Given the description of an element on the screen output the (x, y) to click on. 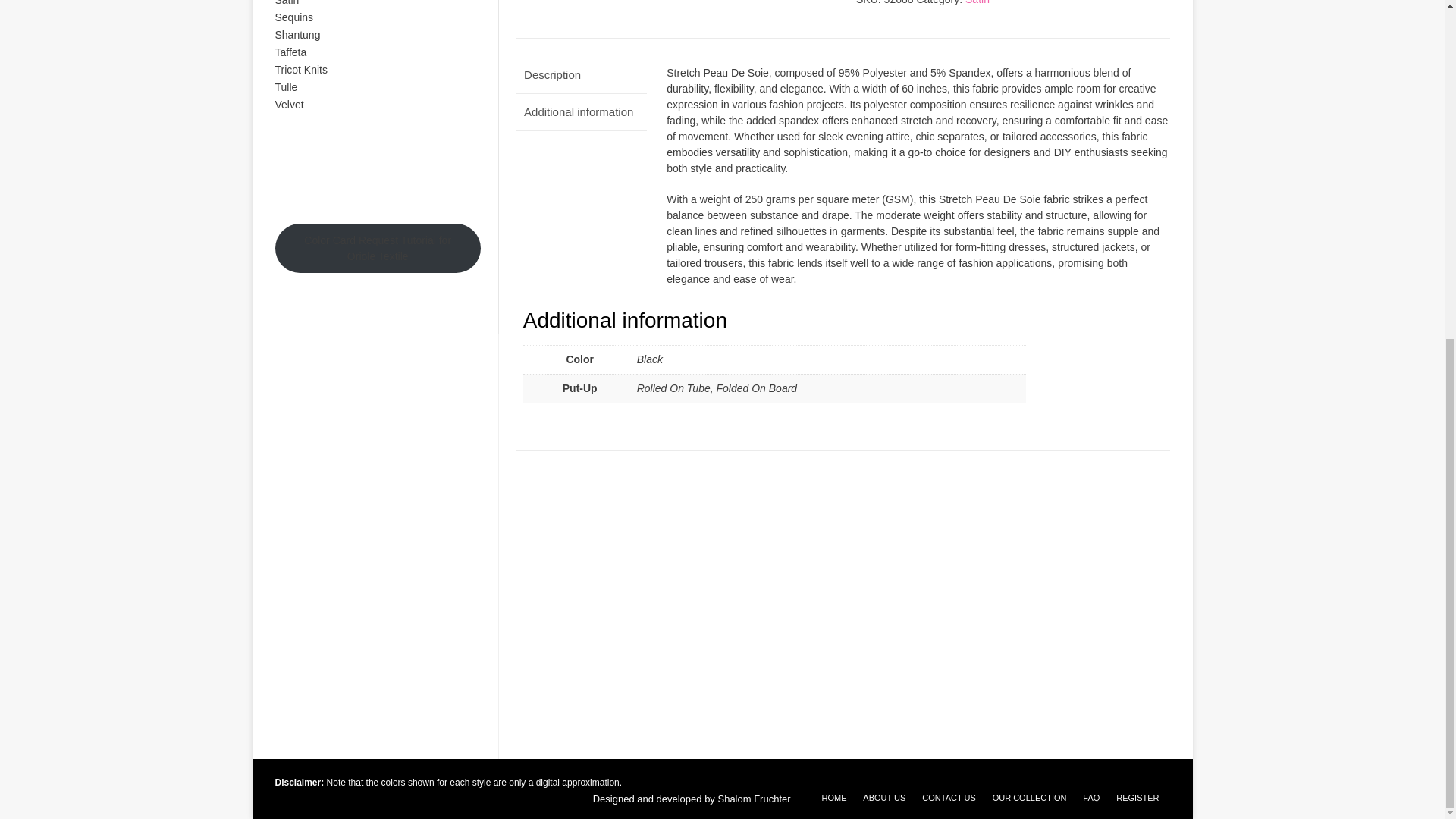
Description (581, 75)
Additional information (581, 111)
Satin (977, 2)
